Given the description of an element on the screen output the (x, y) to click on. 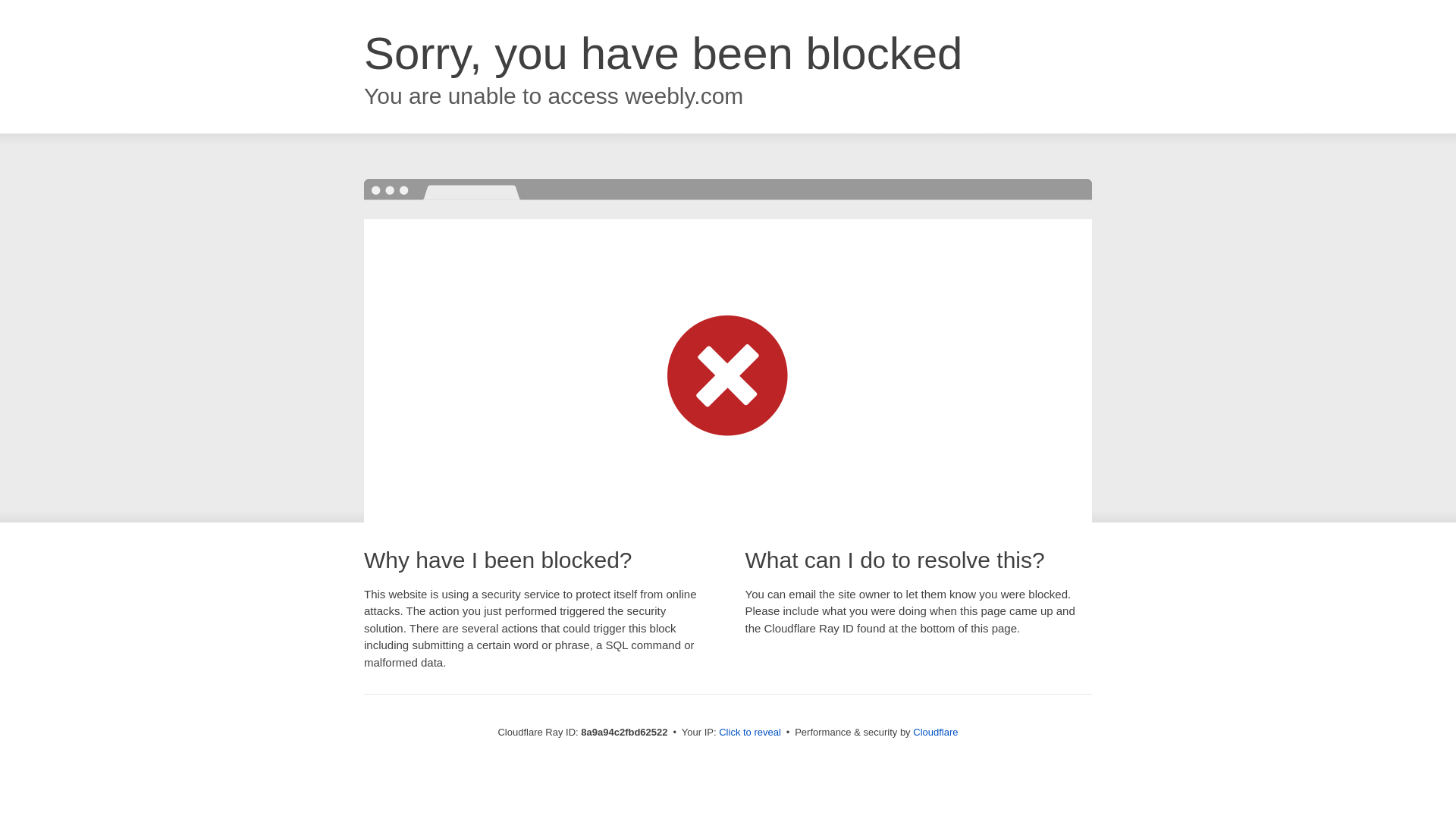
Click to reveal (749, 732)
Cloudflare (935, 731)
